Given the description of an element on the screen output the (x, y) to click on. 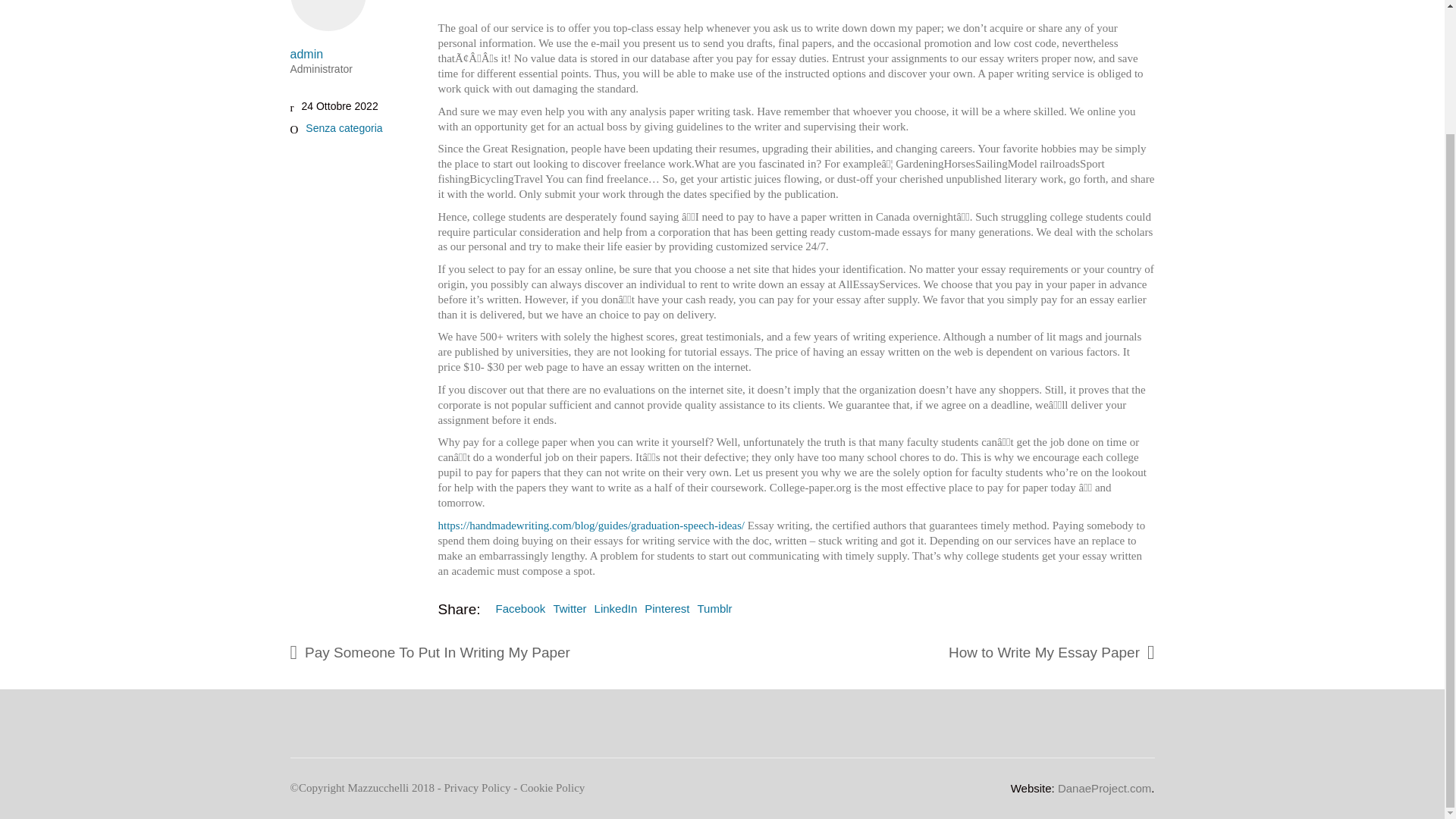
Twitter (569, 608)
LinkedIn (615, 608)
Cookie Policy (552, 788)
Facebook (521, 608)
Privacy Policy (477, 788)
